Given the description of an element on the screen output the (x, y) to click on. 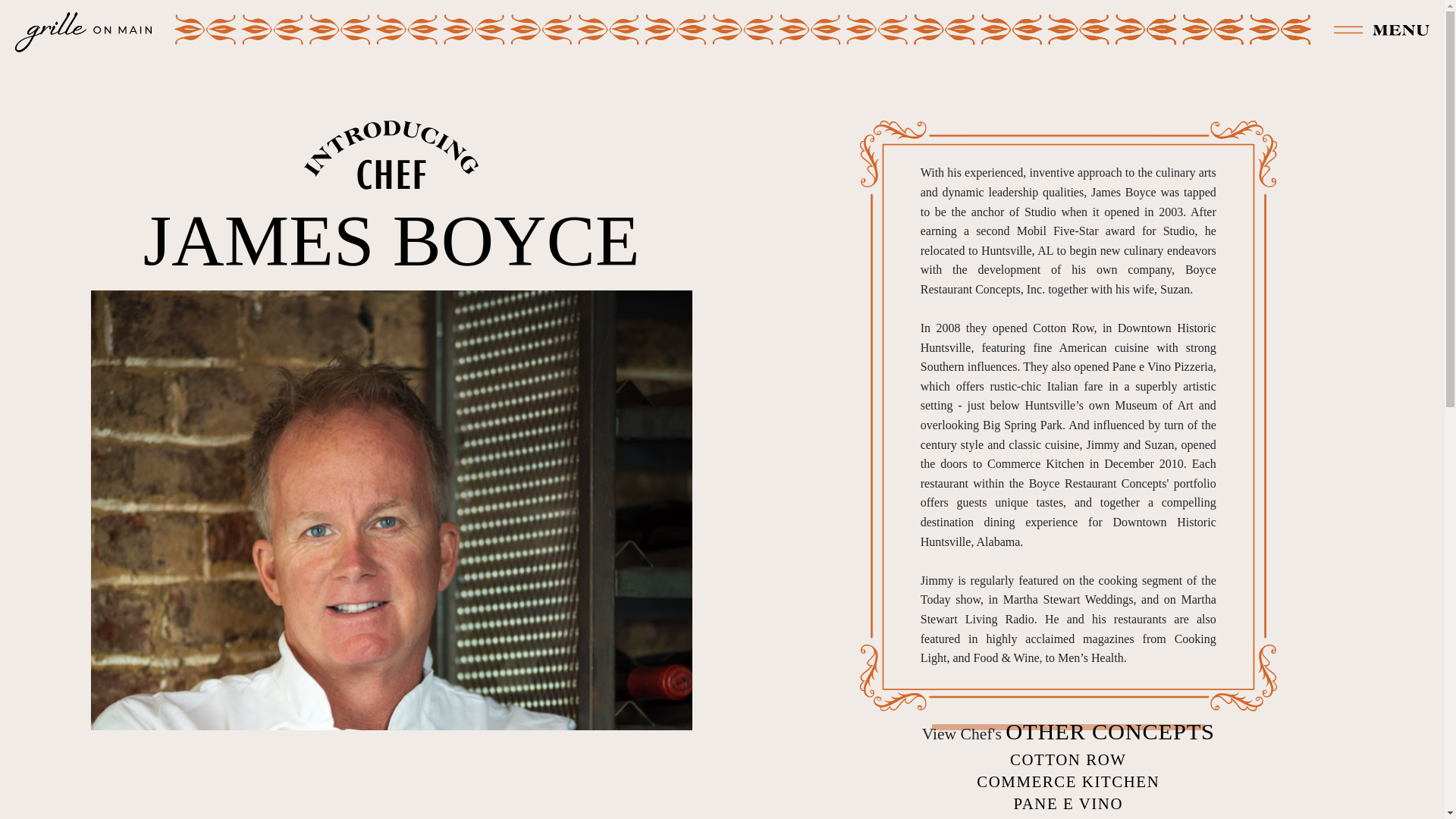
PANE E VINO (1067, 804)
COMMERCE KITCHEN (1067, 781)
COTTON ROW (1068, 760)
